Given the description of an element on the screen output the (x, y) to click on. 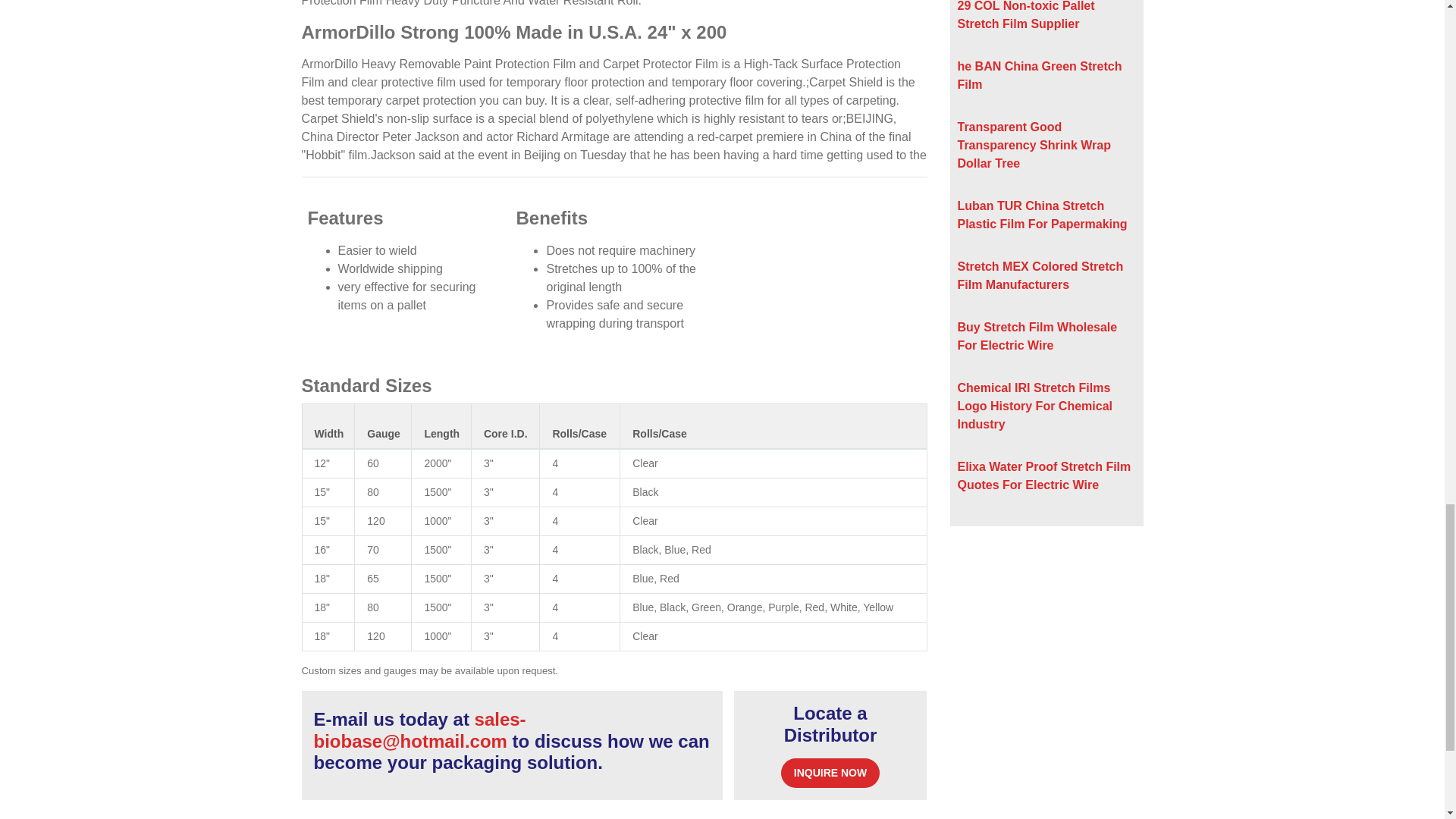
29 COL Non-toxic Pallet Stretch Film Supplier (1025, 15)
INQUIRE NOW (829, 772)
Transparent Good Transparency Shrink Wrap Dollar Tree (1032, 144)
he BAN China Green Stretch Film (1038, 74)
Luban TUR China Stretch Plastic Film For Papermaking (1041, 214)
